Given the description of an element on the screen output the (x, y) to click on. 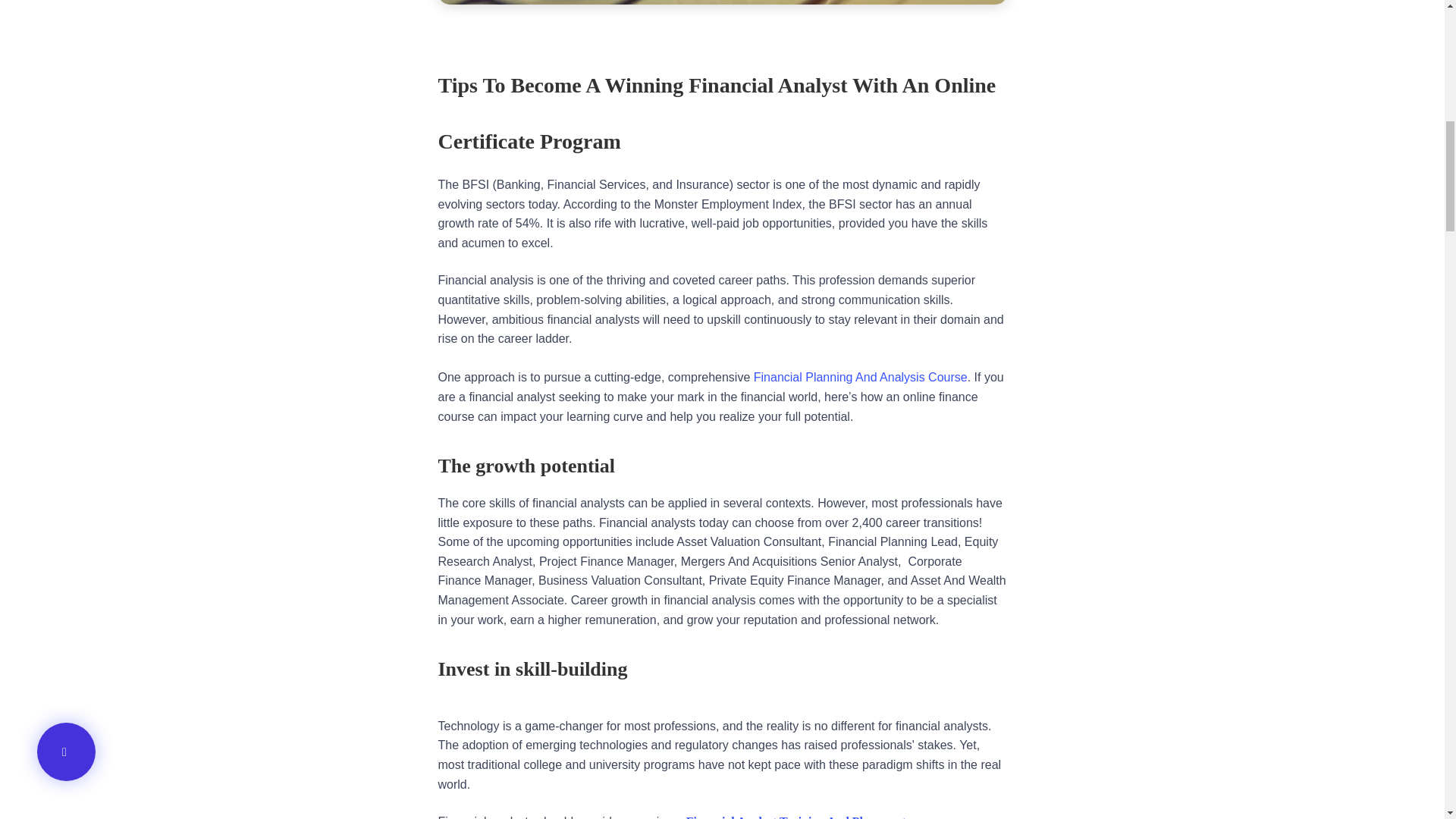
Financial Planning And Analysis Course (861, 377)
Financial Analyst Training And Placement program (820, 816)
